Given the description of an element on the screen output the (x, y) to click on. 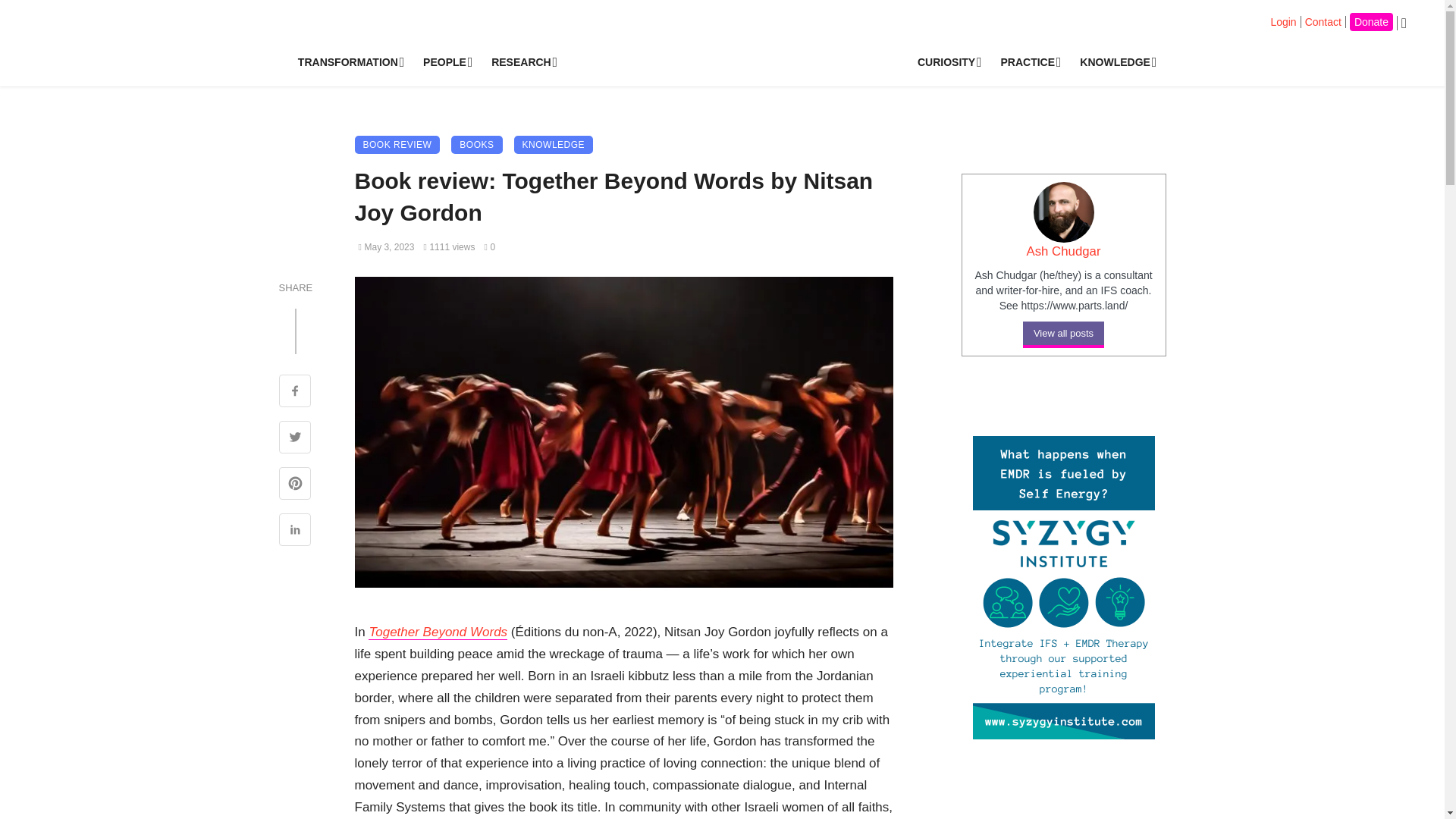
Login (1282, 21)
0 Comments (489, 246)
TRANSFORMATION (349, 62)
BOOKS (476, 144)
KNOWLEDGE (1115, 62)
BOOK REVIEW (398, 144)
Share on Pinterest (295, 484)
RESEARCH (522, 62)
PEOPLE (446, 62)
0 (489, 246)
Share on Facebook (295, 392)
LOGO (734, 54)
Contact (1322, 21)
Donate (1371, 22)
KNOWLEDGE (553, 144)
